Given the description of an element on the screen output the (x, y) to click on. 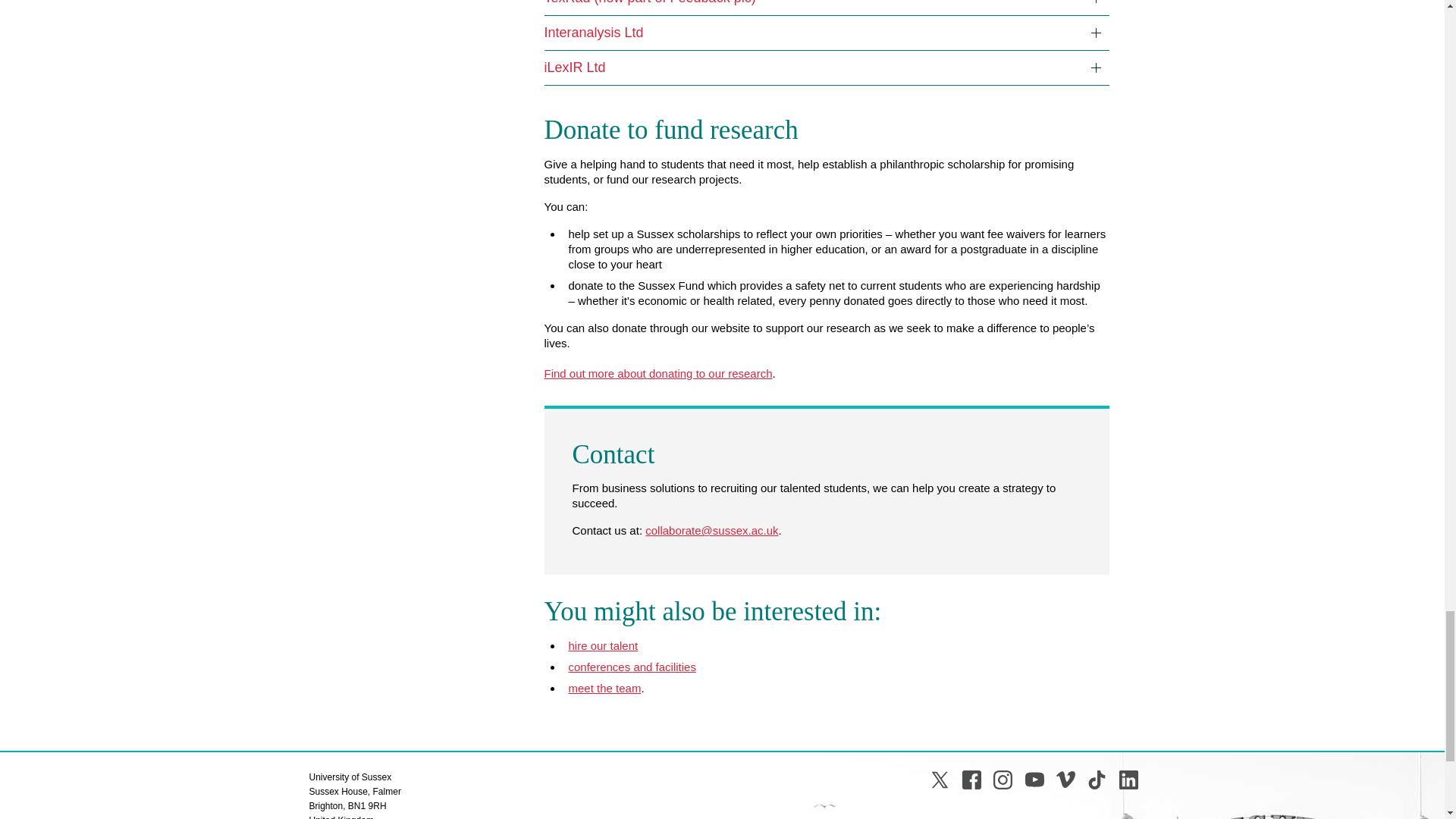
Vimeo (1066, 779)
YouTube (1034, 779)
Facebook (971, 779)
Linkedin (1128, 779)
Tiktok (1096, 779)
Instagram (1001, 779)
Twitter (939, 779)
